Given the description of an element on the screen output the (x, y) to click on. 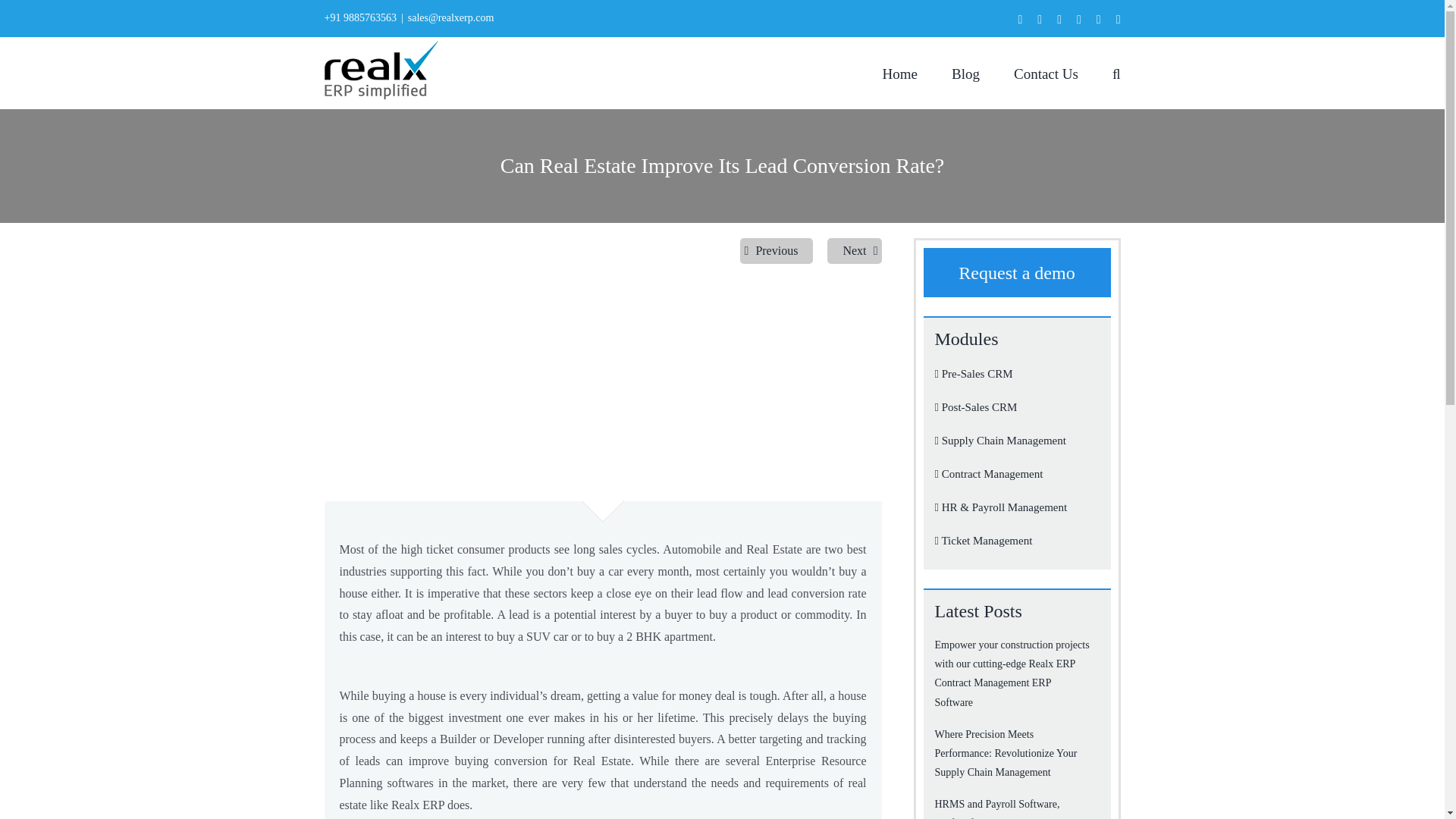
Next (853, 250)
Previous (775, 250)
Contact Us (1045, 72)
